Given the description of an element on the screen output the (x, y) to click on. 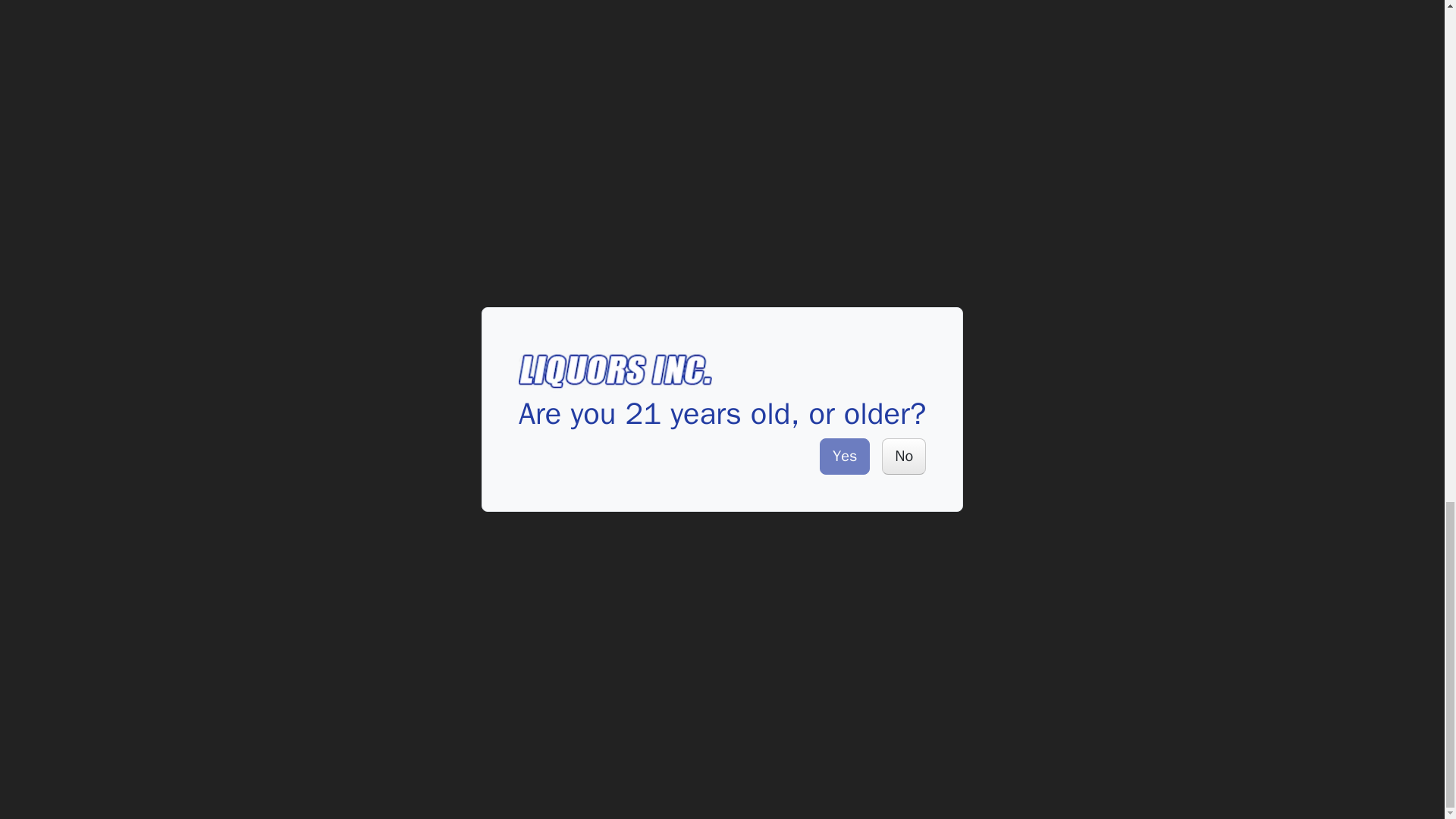
Wine Spectator 94 point rating (593, 296)
James Suckling 98 point rating (1039, 296)
Wine Advocate 92 point rating (645, 296)
Wine Advocate 89-91 point rating (353, 279)
Decanter 93 point rating. (729, 46)
Vinous 95 point rating (547, 296)
